Given the description of an element on the screen output the (x, y) to click on. 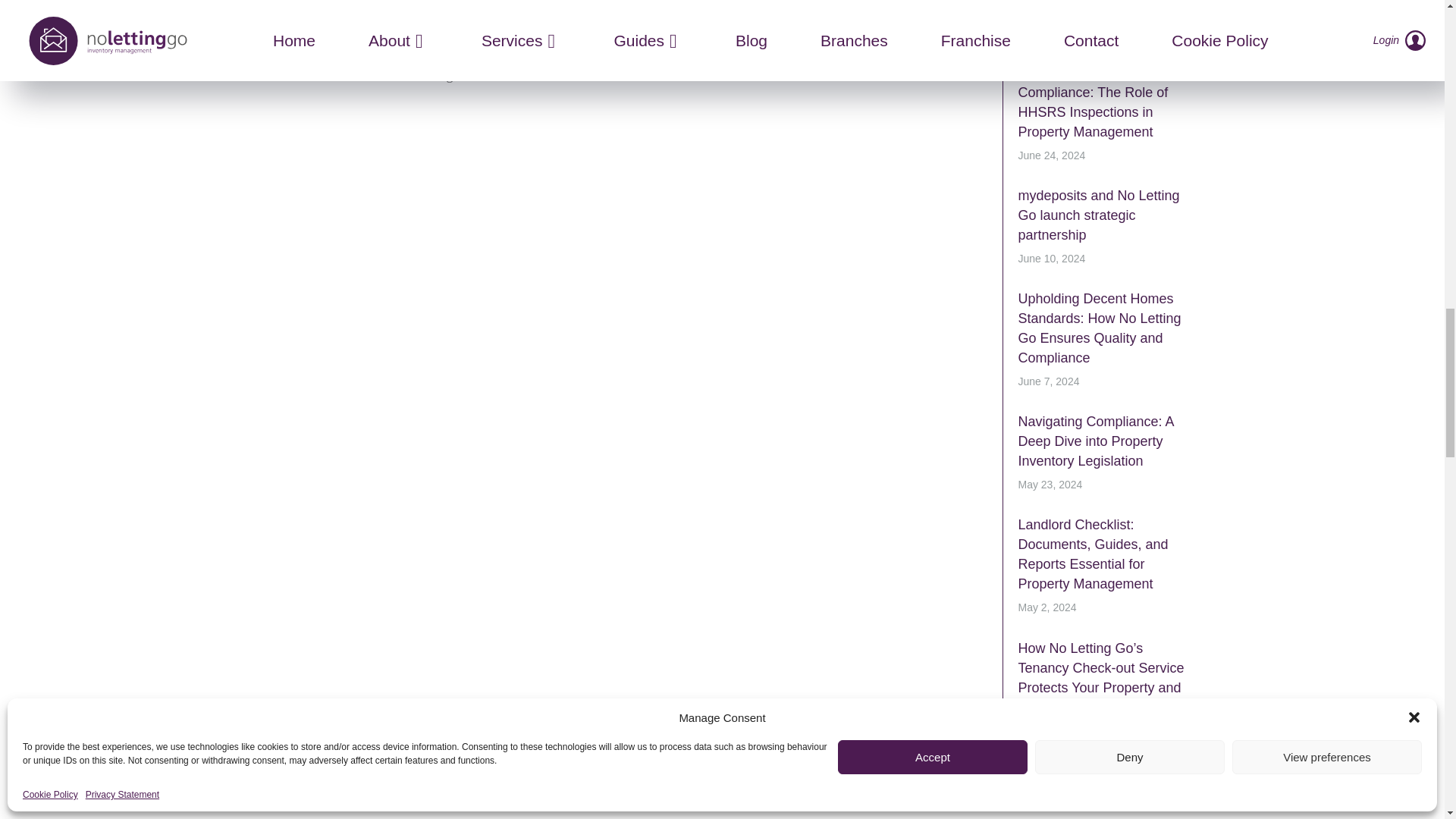
mydeposits and No Letting Go launch strategic partnership (1098, 215)
